Given the description of an element on the screen output the (x, y) to click on. 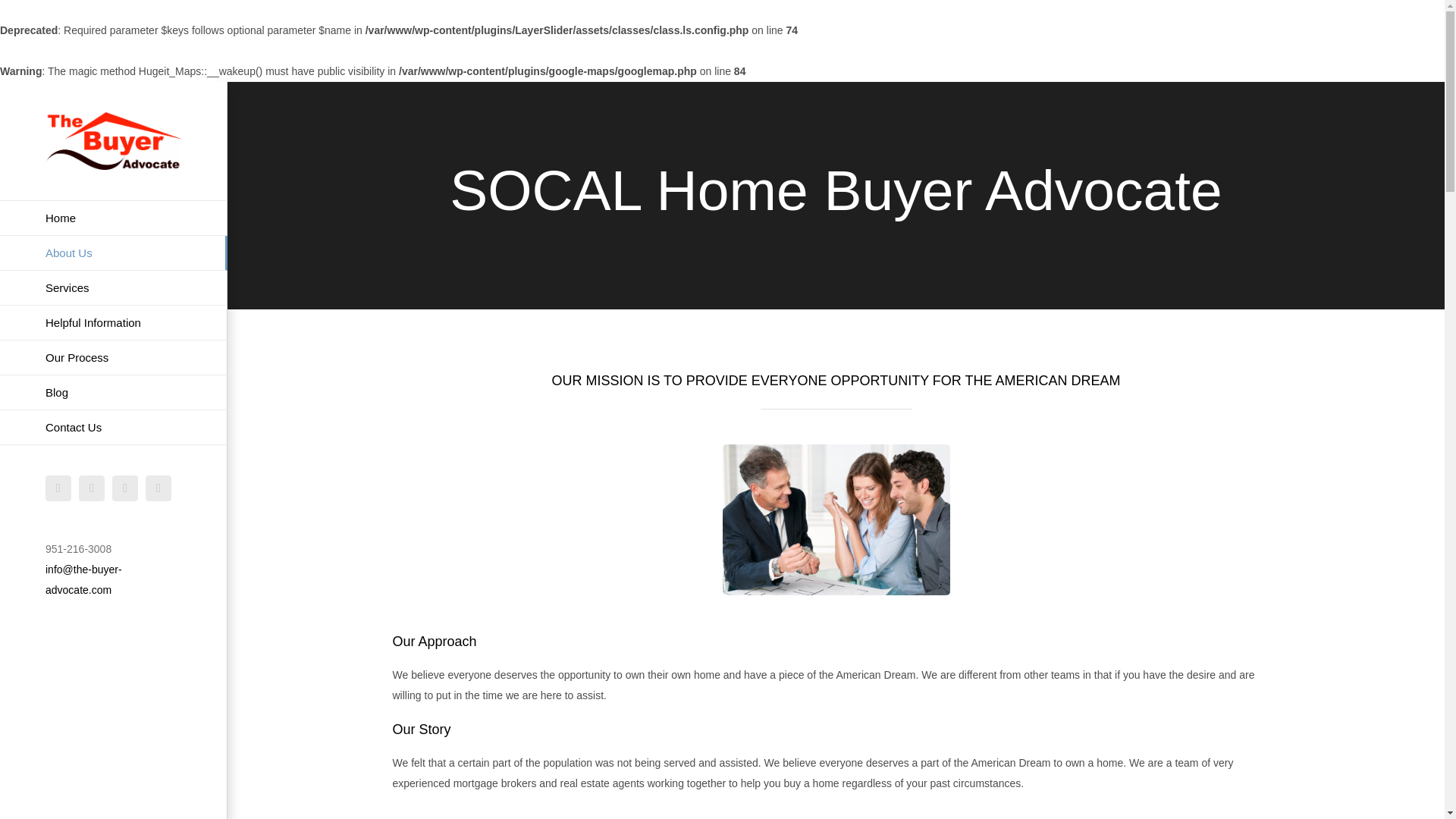
Services (113, 288)
Home (113, 217)
Blog (113, 392)
Helpful Information (113, 322)
About Us (113, 253)
Our Process (113, 357)
Contact Us (113, 427)
